Given the description of an element on the screen output the (x, y) to click on. 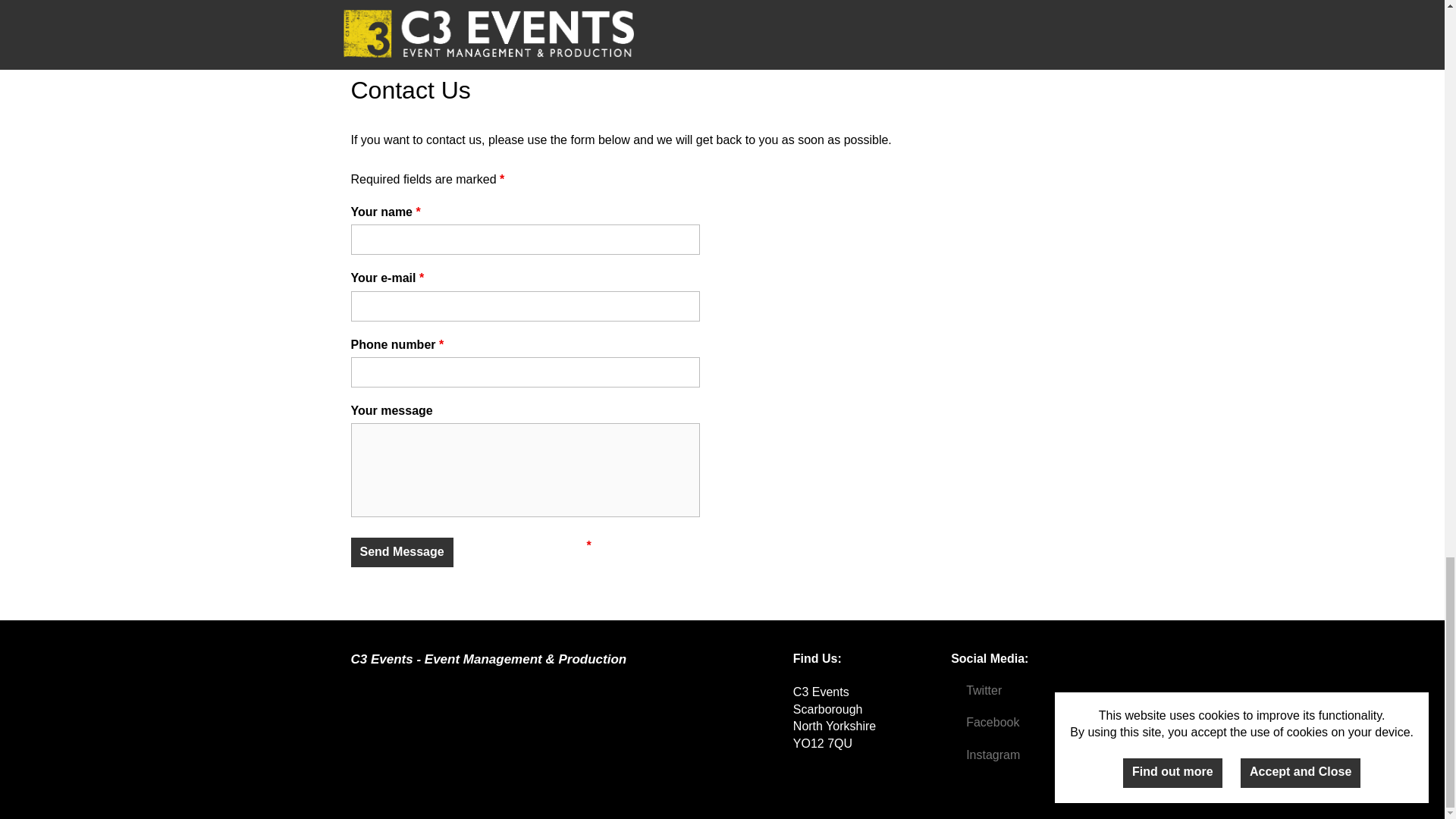
Twitter (975, 689)
Instagram (985, 754)
Facebook (984, 721)
Send Message (401, 552)
Send Message (401, 552)
